Given the description of an element on the screen output the (x, y) to click on. 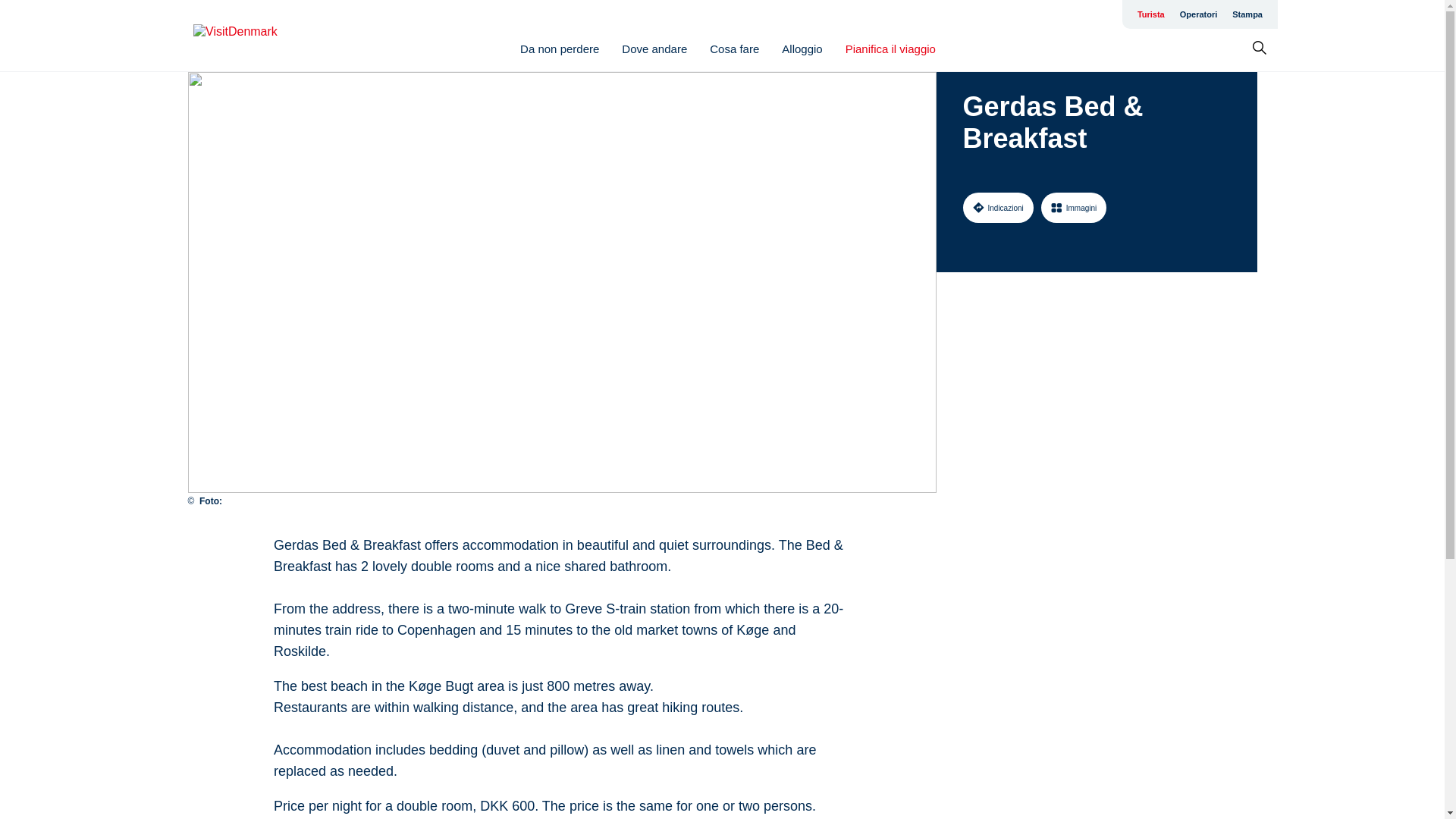
Operatori (1198, 14)
Pianifica il viaggio (890, 48)
Stampa (1246, 14)
Alloggio (801, 48)
Cosa fare (734, 48)
Immagini (1073, 207)
Da non perdere (558, 48)
Turista (1150, 14)
Dove andare (654, 48)
Indicazioni (997, 207)
